Given the description of an element on the screen output the (x, y) to click on. 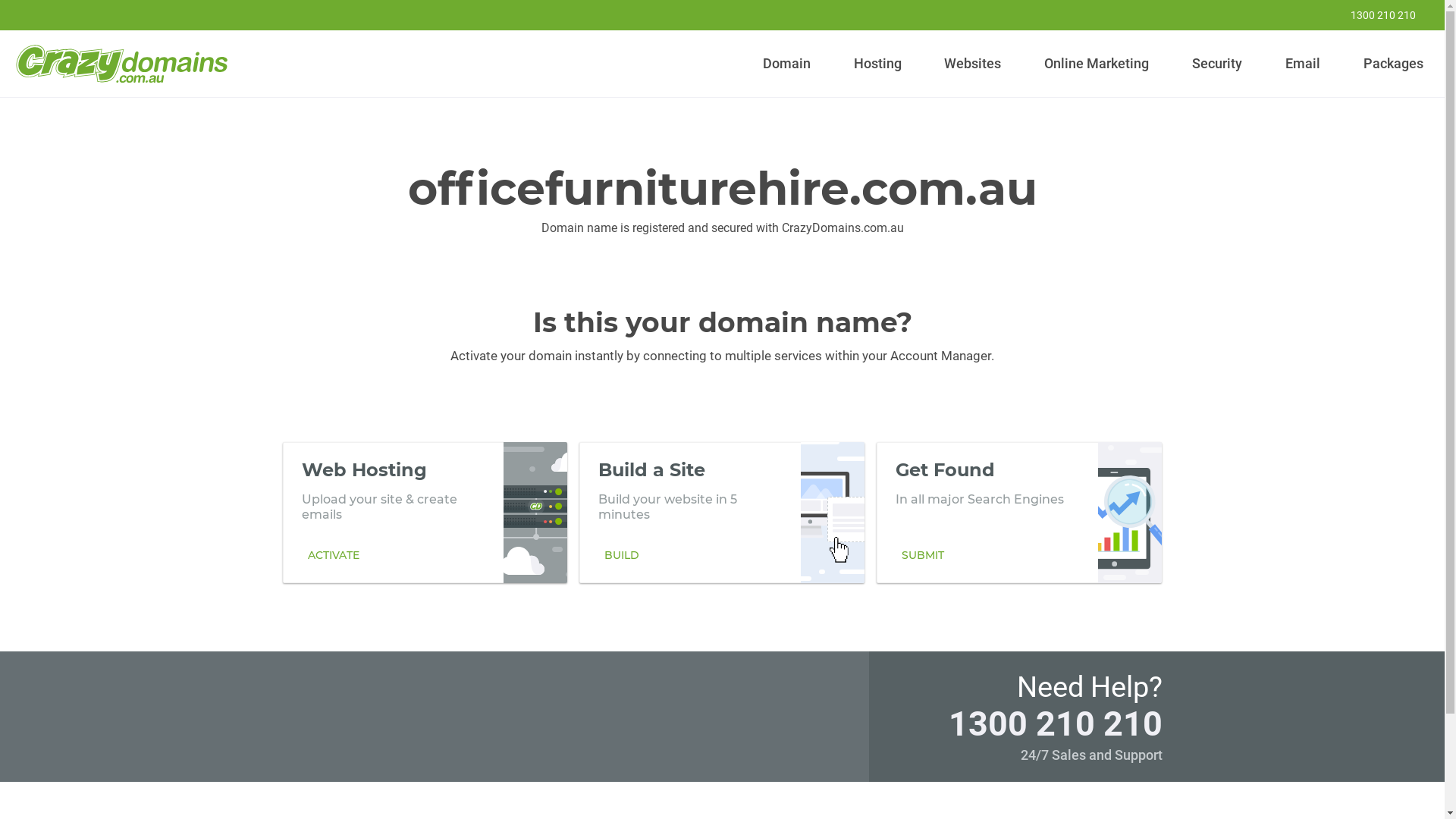
Get Found
In all major Search Engines
SUBMIT Element type: text (1018, 511)
Security Element type: text (1217, 63)
Build a Site
Build your website in 5 minutes
BUILD Element type: text (721, 511)
Domain Element type: text (786, 63)
Web Hosting
Upload your site & create emails
ACTIVATE Element type: text (424, 511)
Hosting Element type: text (877, 63)
1300 210 210 Element type: text (1054, 723)
1300 210 210 Element type: text (1373, 15)
Websites Element type: text (972, 63)
Online Marketing Element type: text (1096, 63)
Packages Element type: text (1392, 63)
Email Element type: text (1302, 63)
